Given the description of an element on the screen output the (x, y) to click on. 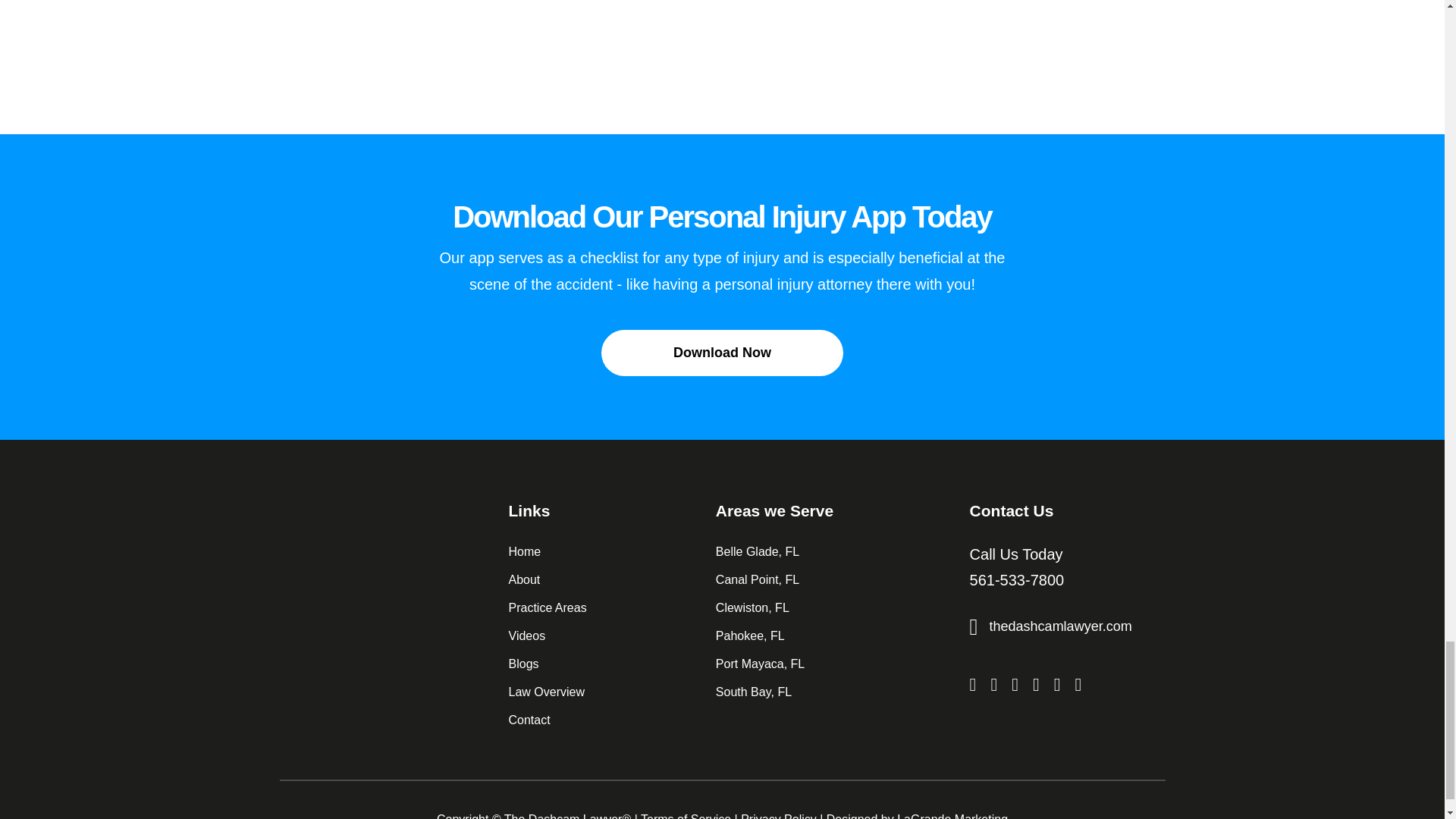
logo-footer (365, 527)
